Given the description of an element on the screen output the (x, y) to click on. 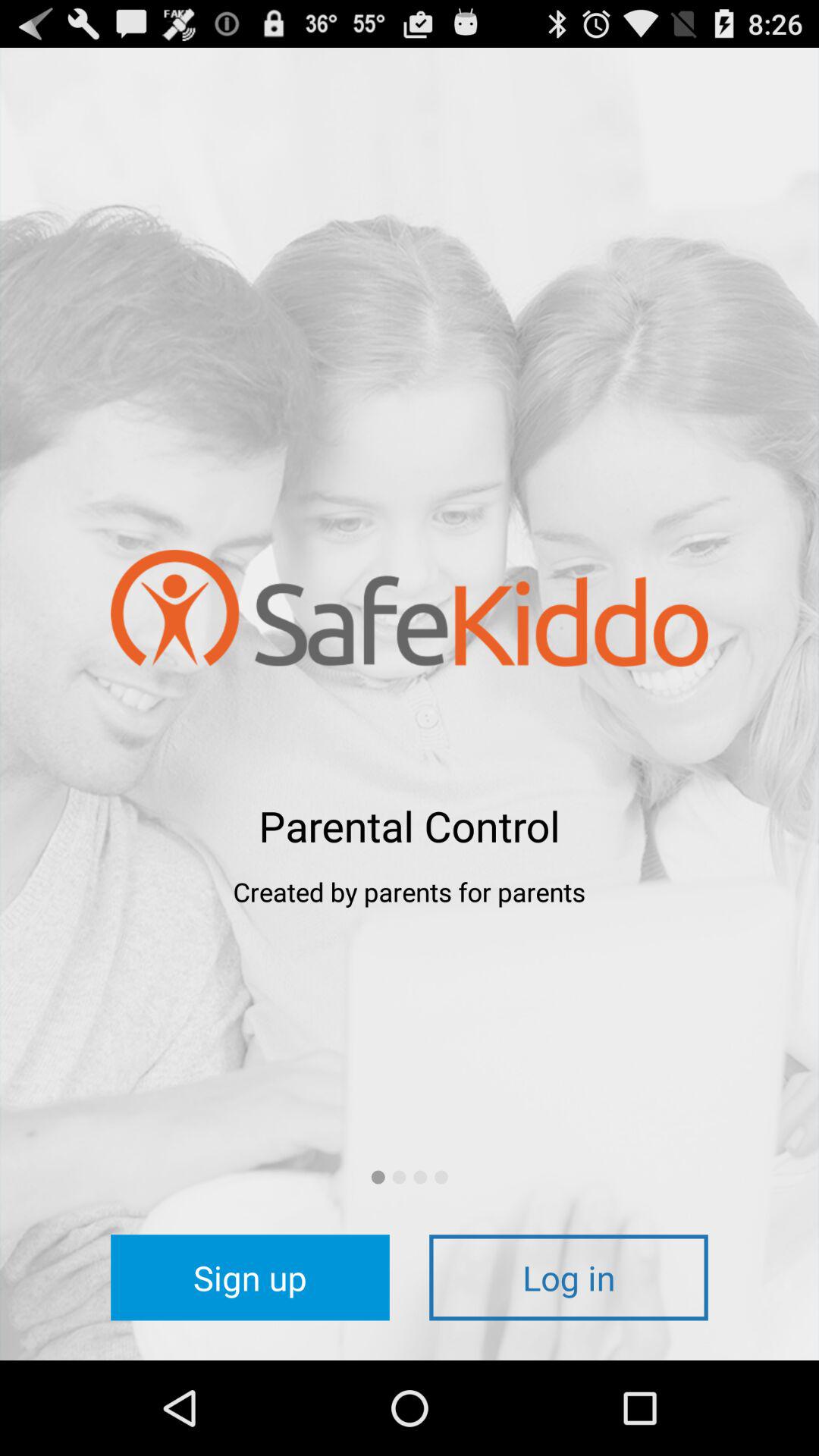
swipe to sign up icon (249, 1277)
